Given the description of an element on the screen output the (x, y) to click on. 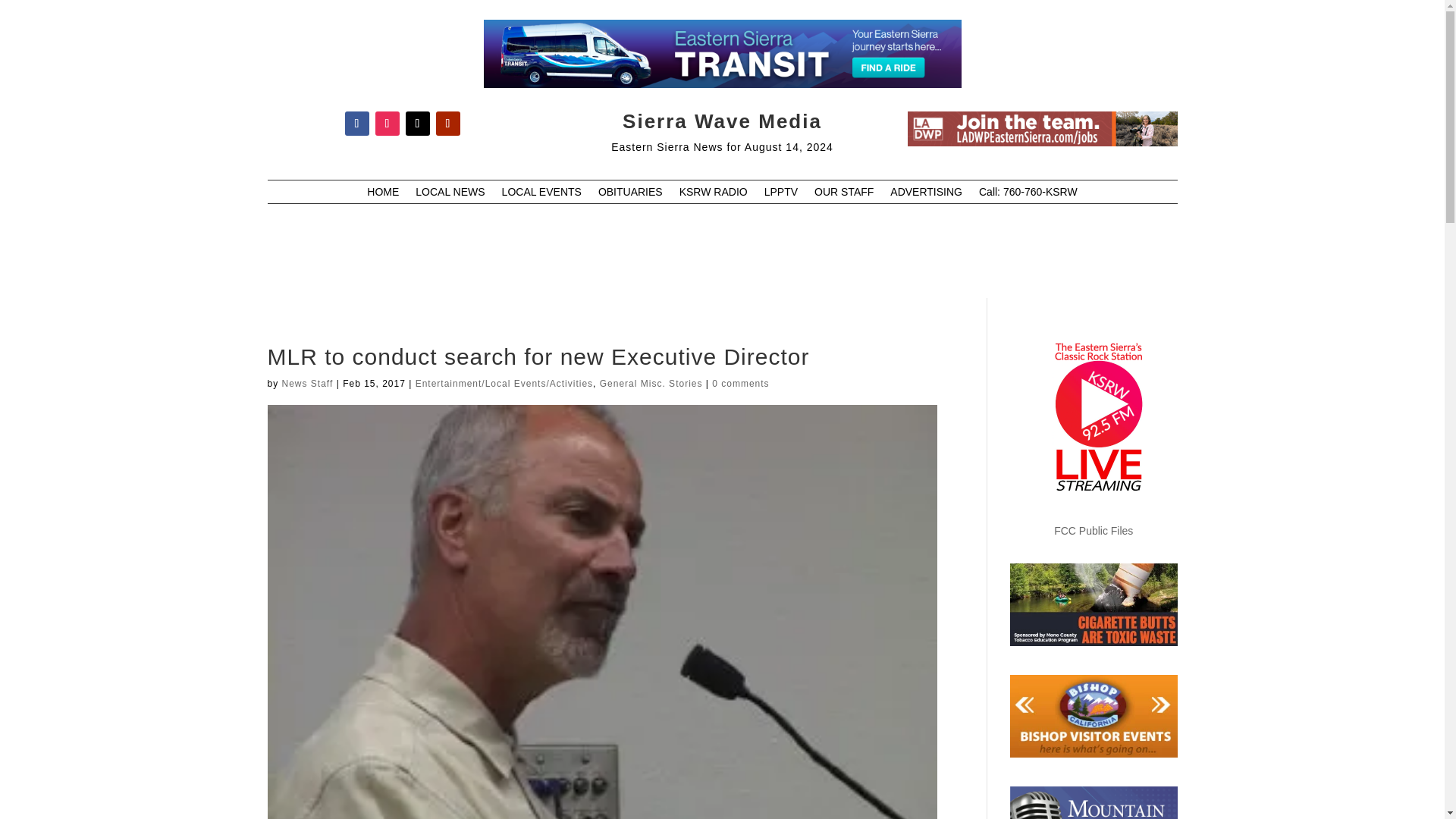
General Misc. Stories (651, 383)
Home (382, 194)
Follow on Youtube (447, 123)
ADVERTISING (925, 194)
Posts by News Staff (307, 383)
Follow on Facebook (355, 123)
OBITUARIES (630, 194)
dec (1041, 128)
Follow on X (416, 123)
LOCAL NEWS (449, 194)
